Given the description of an element on the screen output the (x, y) to click on. 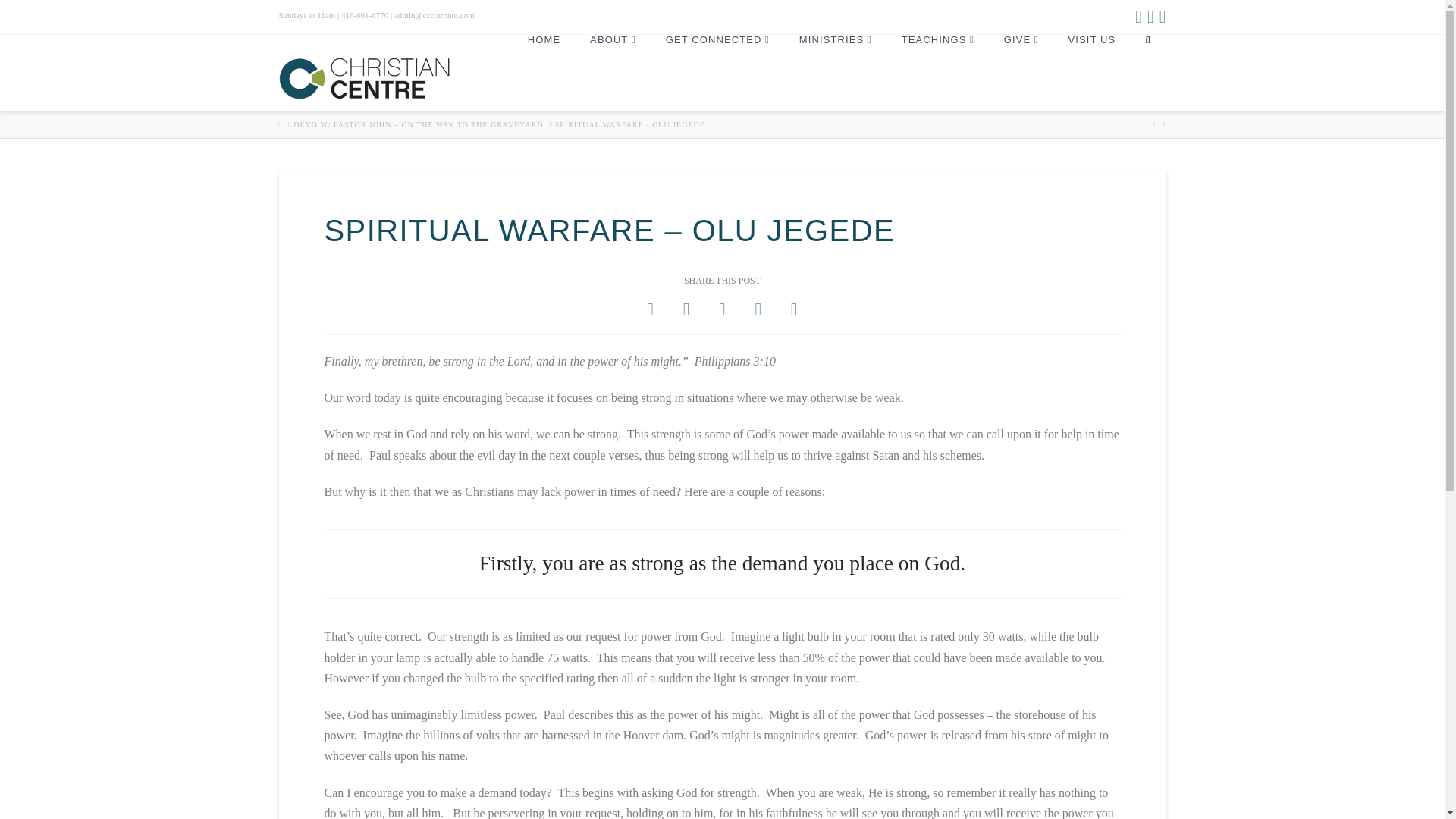
Share via Email (793, 309)
VISIT US (1091, 72)
Share on Facebook (649, 309)
GET CONNECTED (717, 72)
Share on Twitter (686, 309)
You Are Here (629, 124)
Share on Pinterest (757, 309)
Share on LinkedIn (721, 309)
ABOUT (612, 72)
MINISTRIES (835, 72)
